Given the description of an element on the screen output the (x, y) to click on. 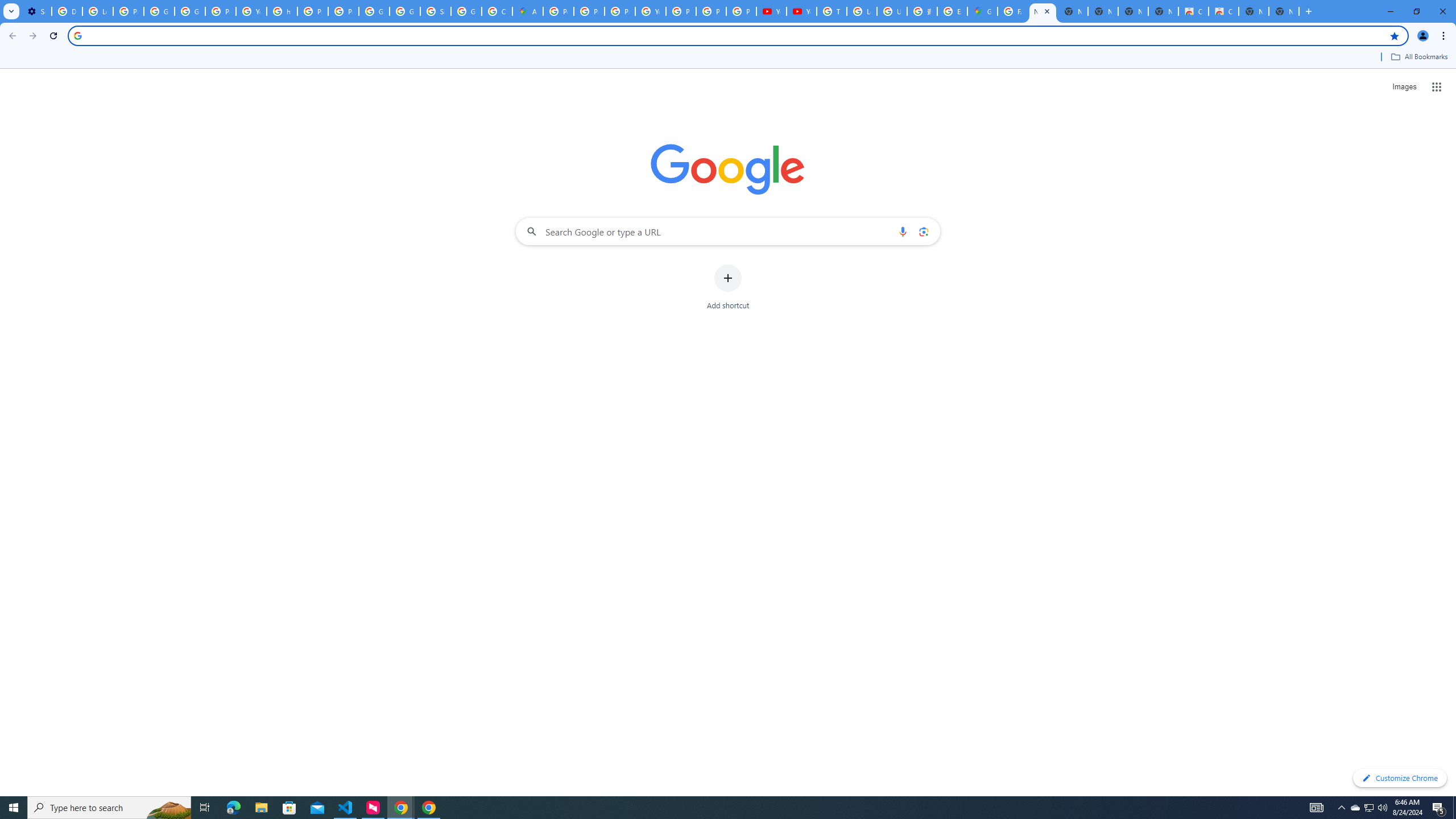
Classic Blue - Chrome Web Store (1193, 11)
Add shortcut (727, 287)
Customize Chrome (1399, 778)
Google Maps (982, 11)
YouTube (251, 11)
Privacy Checkup (710, 11)
